Given the description of an element on the screen output the (x, y) to click on. 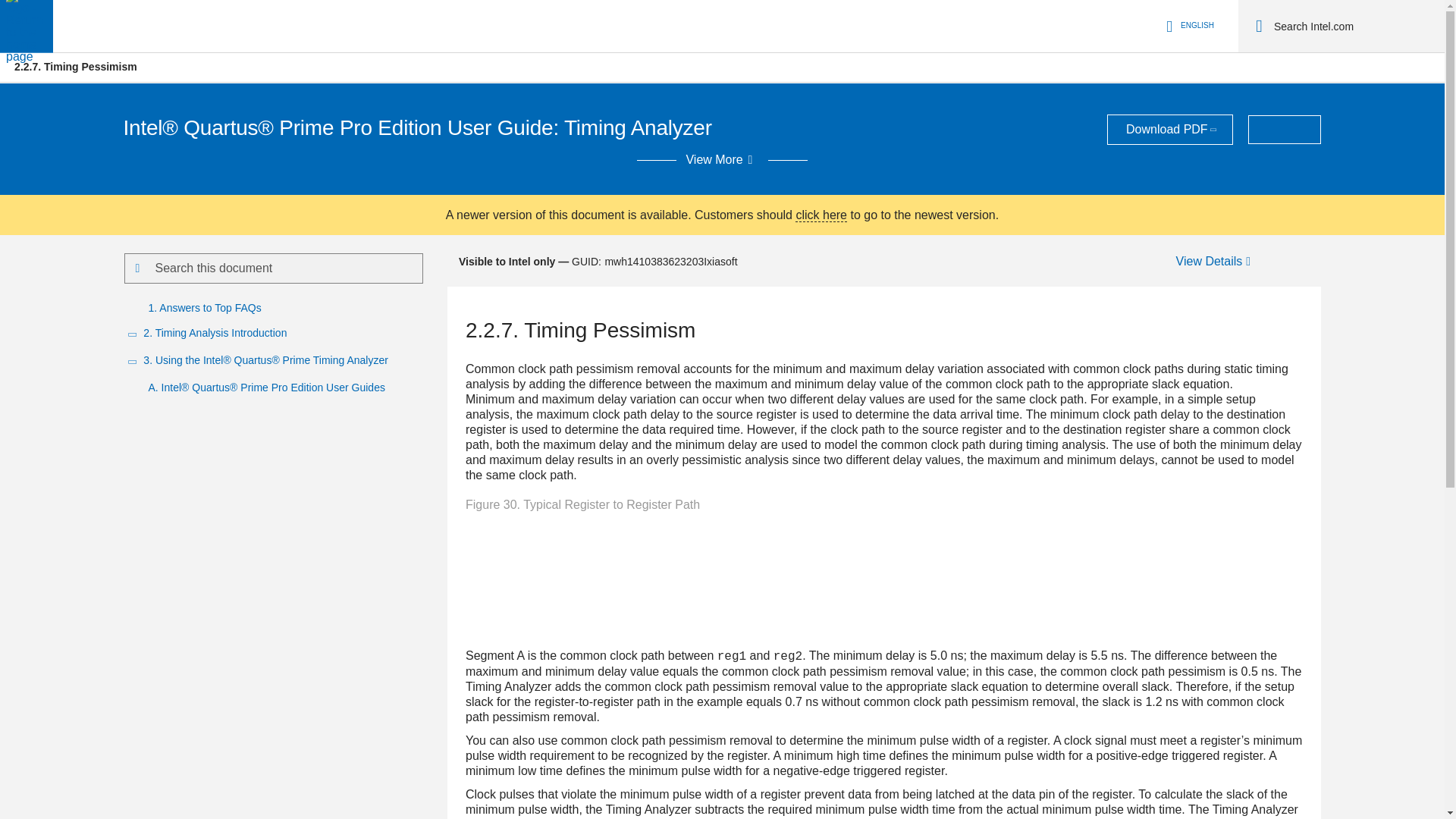
Language Selector (1187, 26)
ENGLISH (1187, 26)
Search (1259, 26)
